Given the description of an element on the screen output the (x, y) to click on. 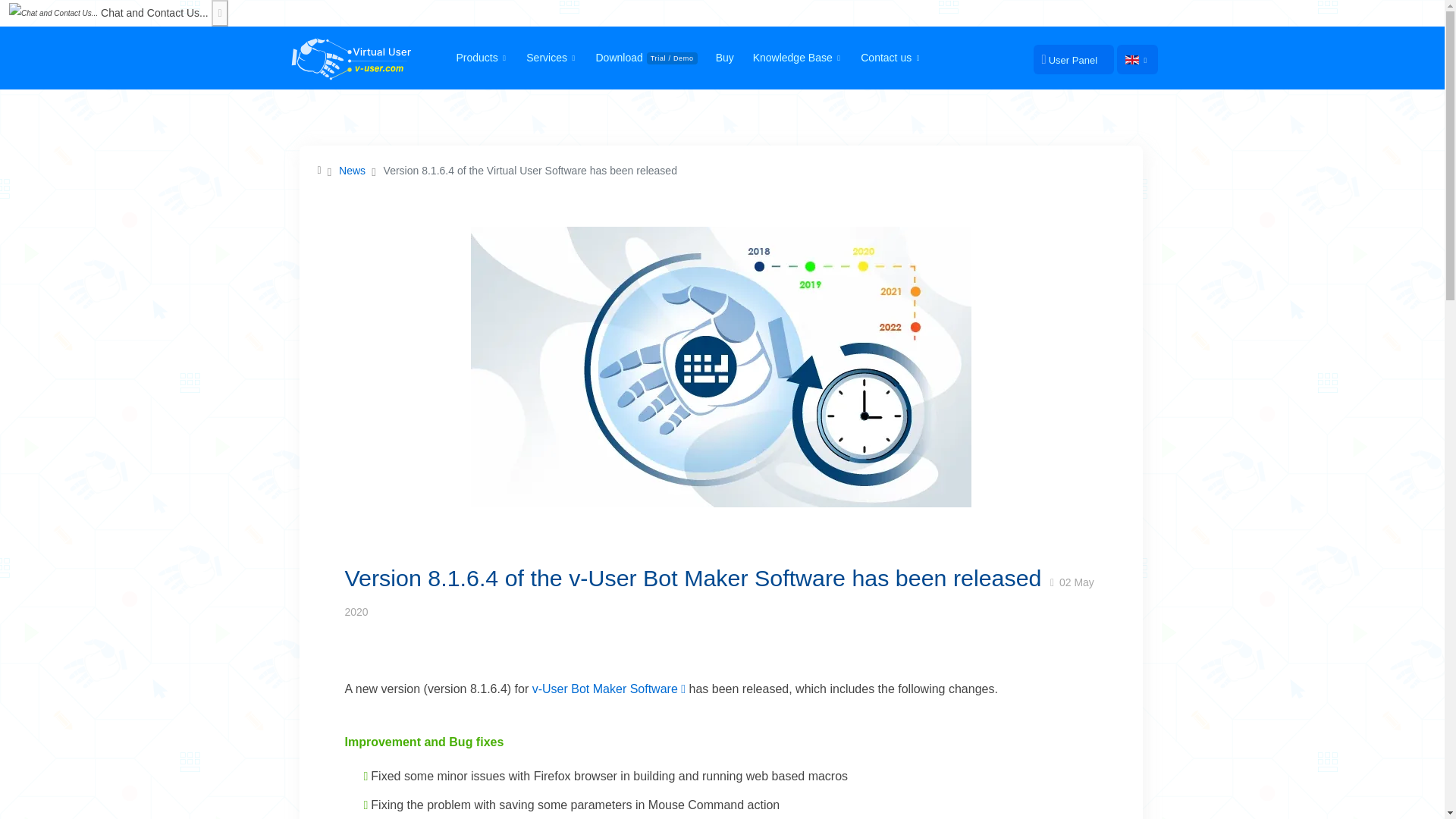
Buy (726, 57)
